Given the description of an element on the screen output the (x, y) to click on. 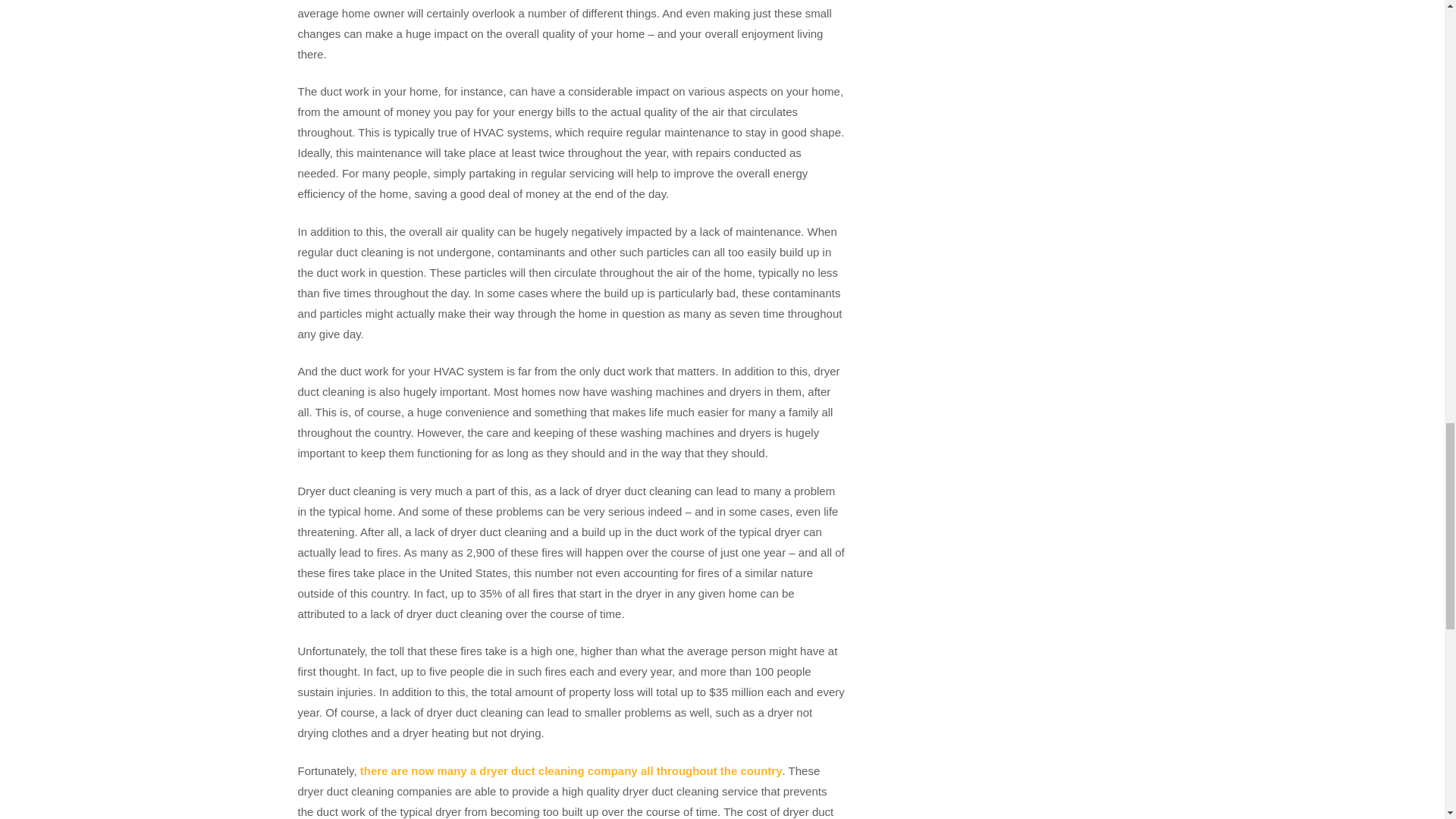
more like this (571, 770)
